Given the description of an element on the screen output the (x, y) to click on. 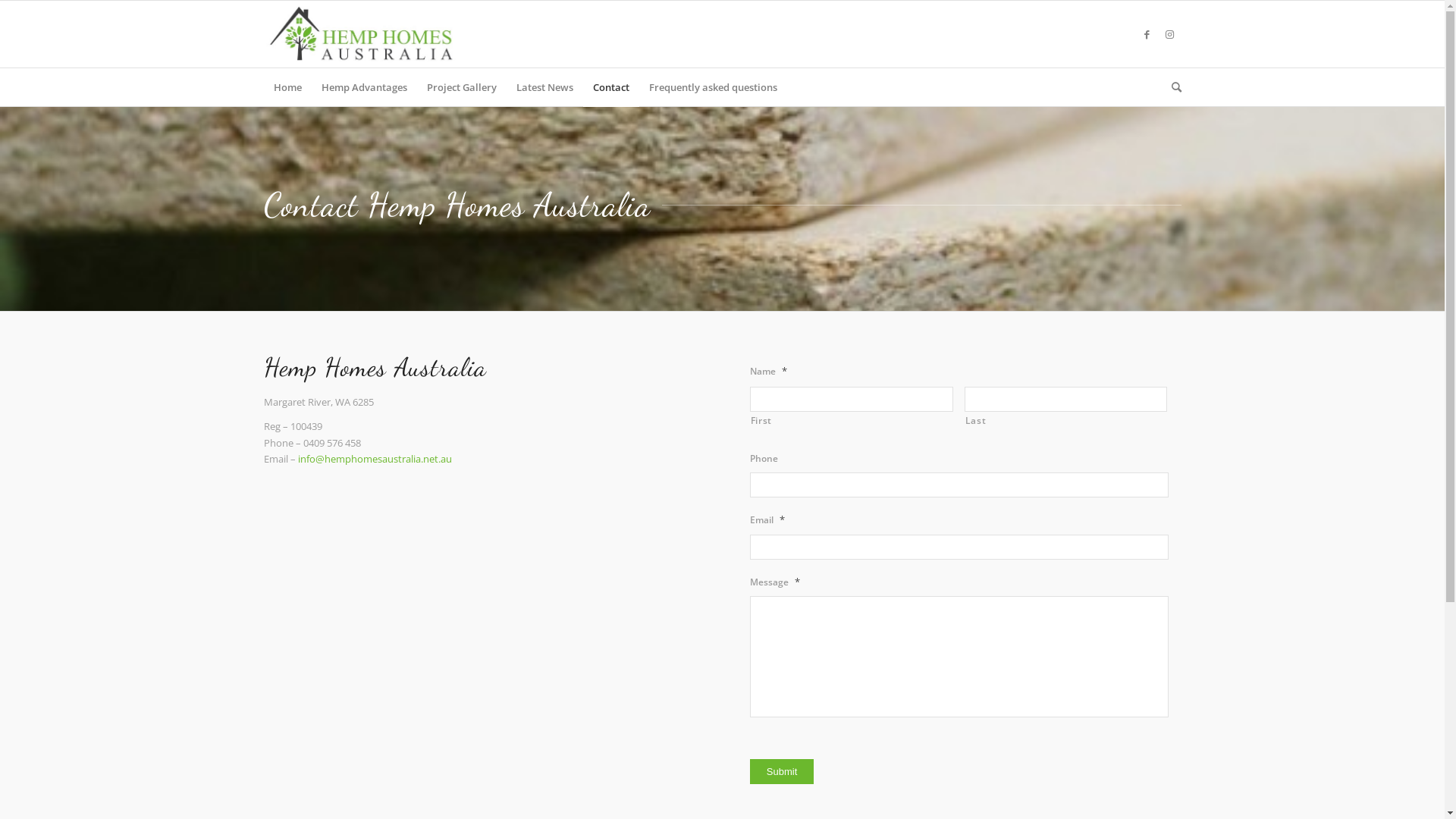
Submit Element type: text (781, 771)
Latest News Element type: text (544, 87)
Hemp Advantages Element type: text (363, 87)
Home Element type: text (287, 87)
Facebook Element type: hover (1146, 33)
info@hemphomesaustralia.net.au Element type: text (374, 458)
Instagram Element type: hover (1169, 33)
Project Gallery Element type: text (461, 87)
Frequently asked questions Element type: text (712, 87)
Contact Element type: text (610, 87)
